Given the description of an element on the screen output the (x, y) to click on. 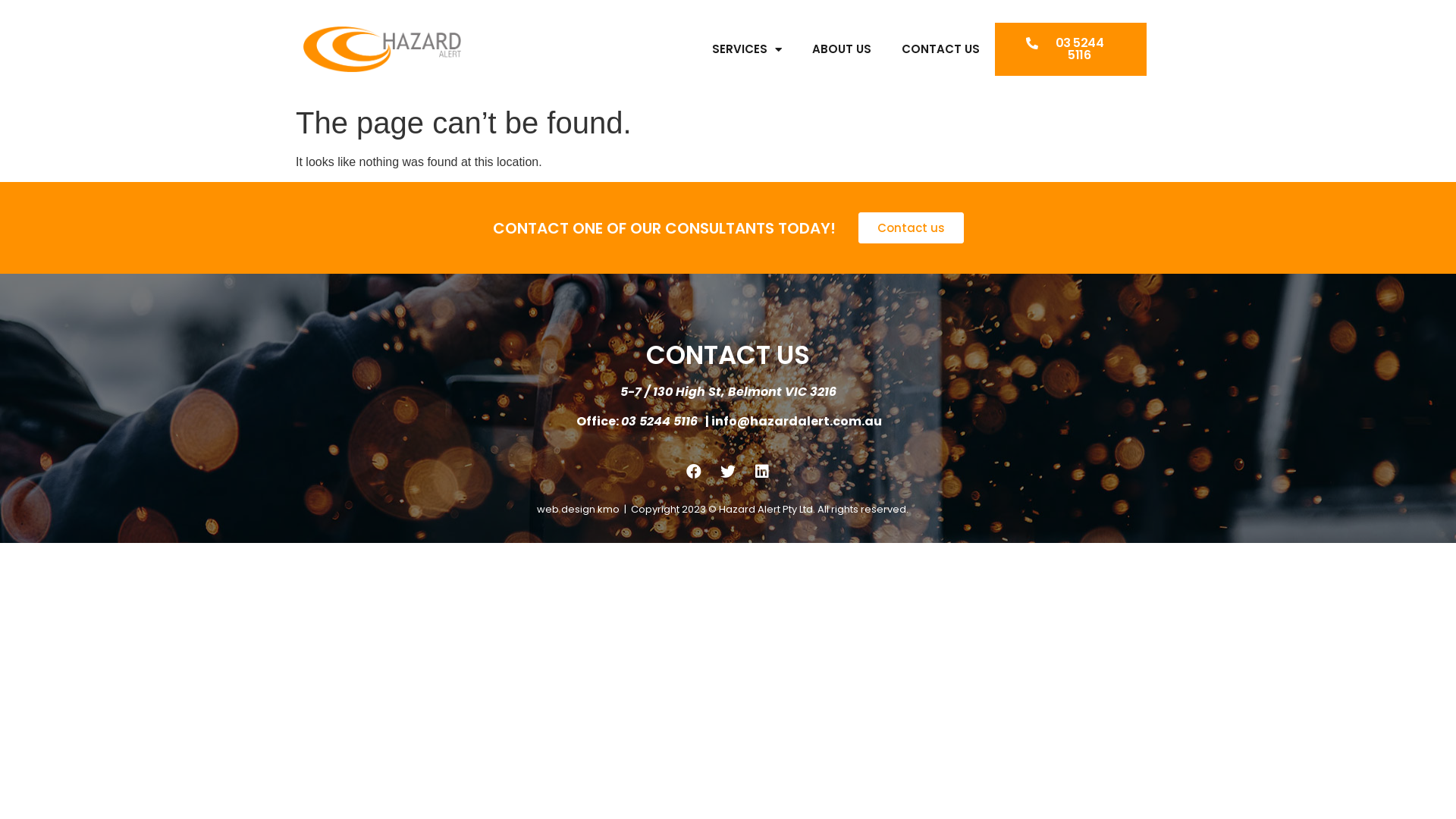
03 5244 5116 Element type: text (660, 420)
Contact us Element type: text (910, 227)
ABOUT US Element type: text (841, 48)
SERVICES Element type: text (746, 48)
03 5244 5116 Element type: text (1070, 48)
web design kmo Element type: text (577, 509)
info@hazardalert.com.au Element type: text (796, 420)
CONTACT US Element type: text (940, 48)
